Given the description of an element on the screen output the (x, y) to click on. 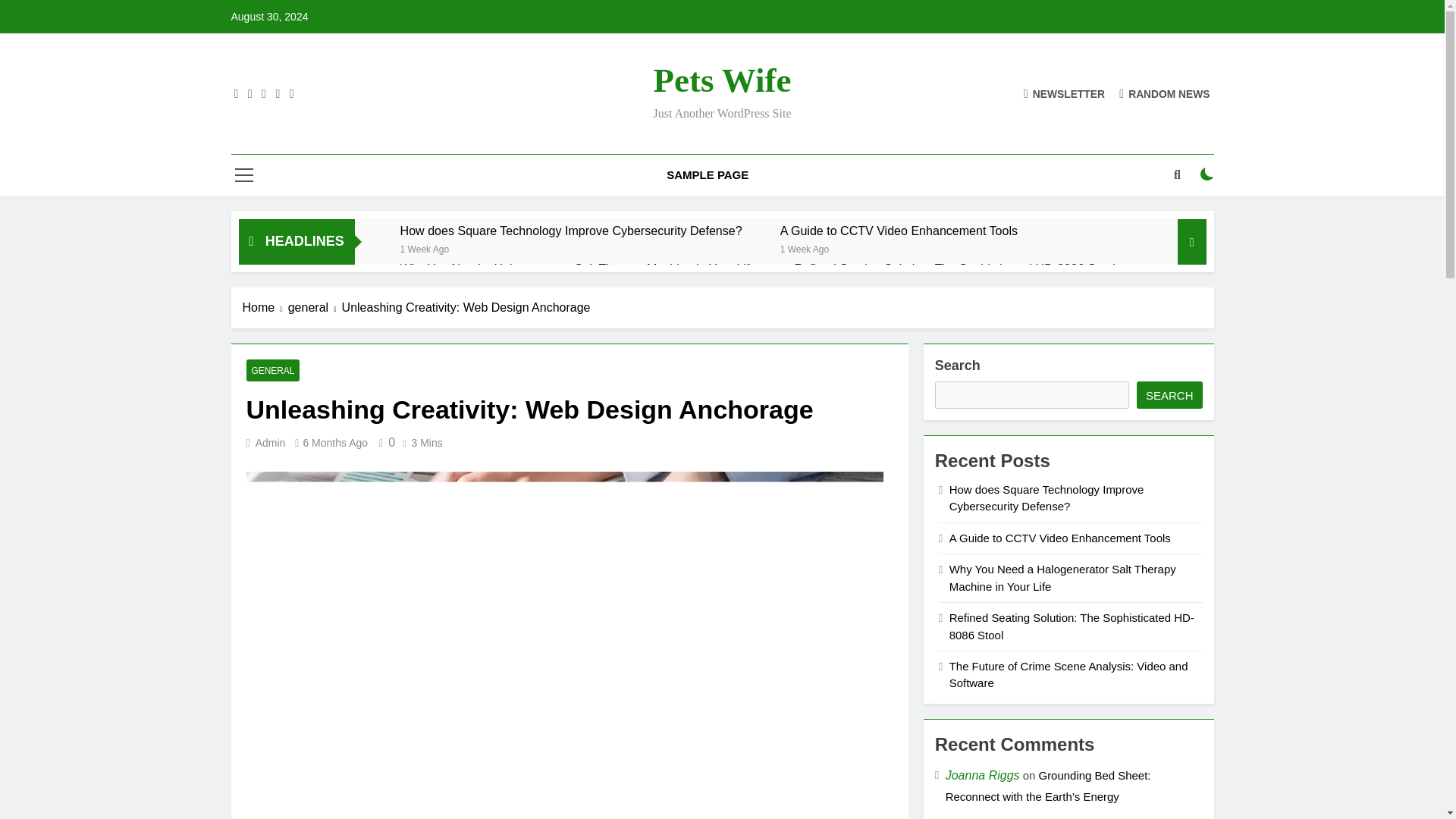
on (1206, 173)
NEWSLETTER (1064, 92)
0 (384, 441)
A Guide to CCTV Video Enhancement Tools (898, 230)
general (315, 307)
Admin (270, 442)
Home (265, 307)
How does Square Technology Improve Cybersecurity Defense? (571, 230)
How does Square Technology Improve Cybersecurity Defense? (571, 230)
SAMPLE PAGE (707, 174)
